Given the description of an element on the screen output the (x, y) to click on. 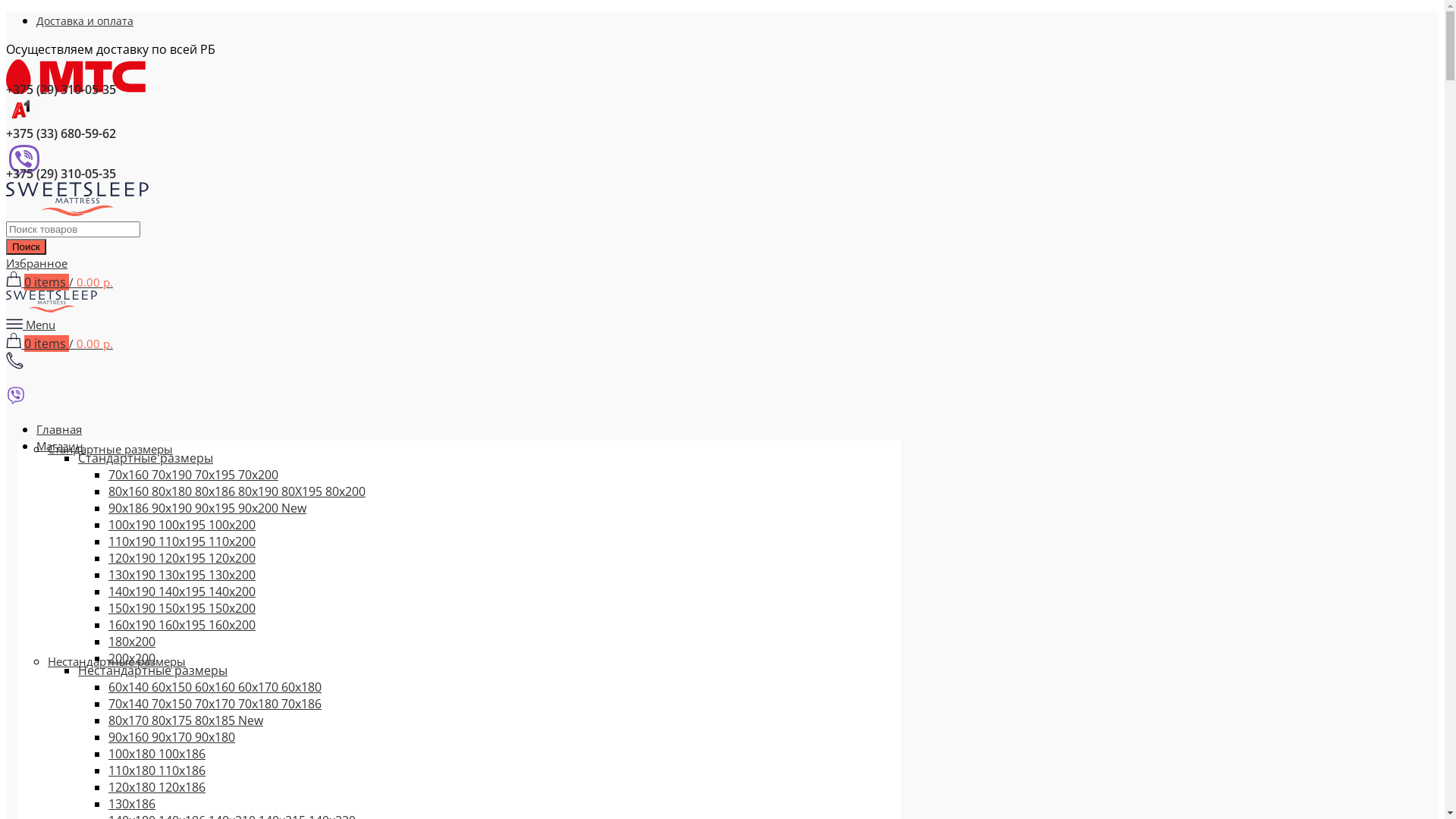
Menu Element type: text (30, 324)
+375 (33) 680-59-62 Element type: text (544, 119)
+375 (29) 310-05-35 Element type: text (544, 77)
+375 (29) 310-05-35 Element type: text (544, 161)
